Given the description of an element on the screen output the (x, y) to click on. 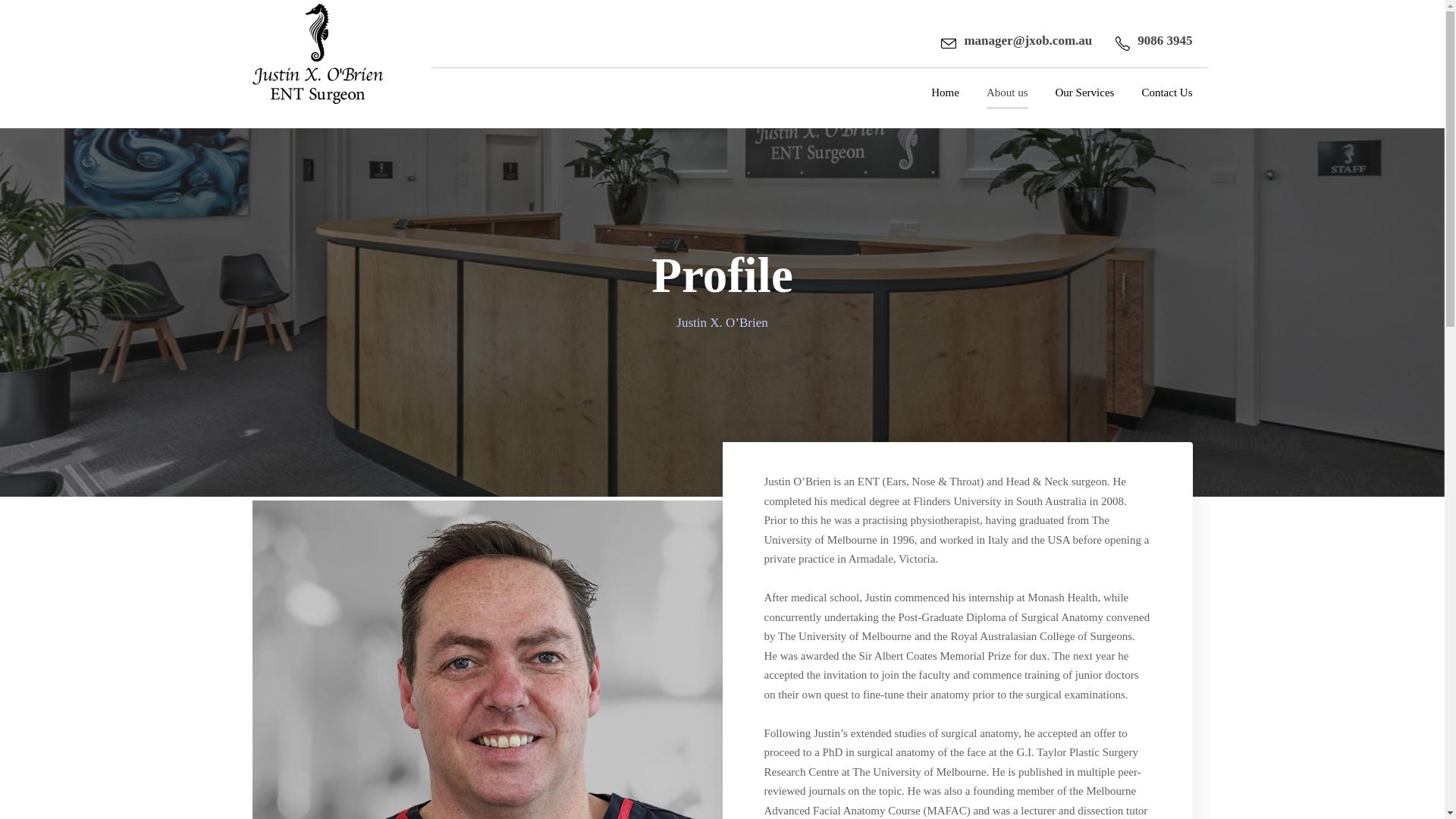
logo Element type: hover (316, 53)
Our Services Element type: text (1084, 105)
About us Element type: text (1007, 105)
Home Element type: text (945, 105)
Contact Us Element type: text (1166, 105)
